Given the description of an element on the screen output the (x, y) to click on. 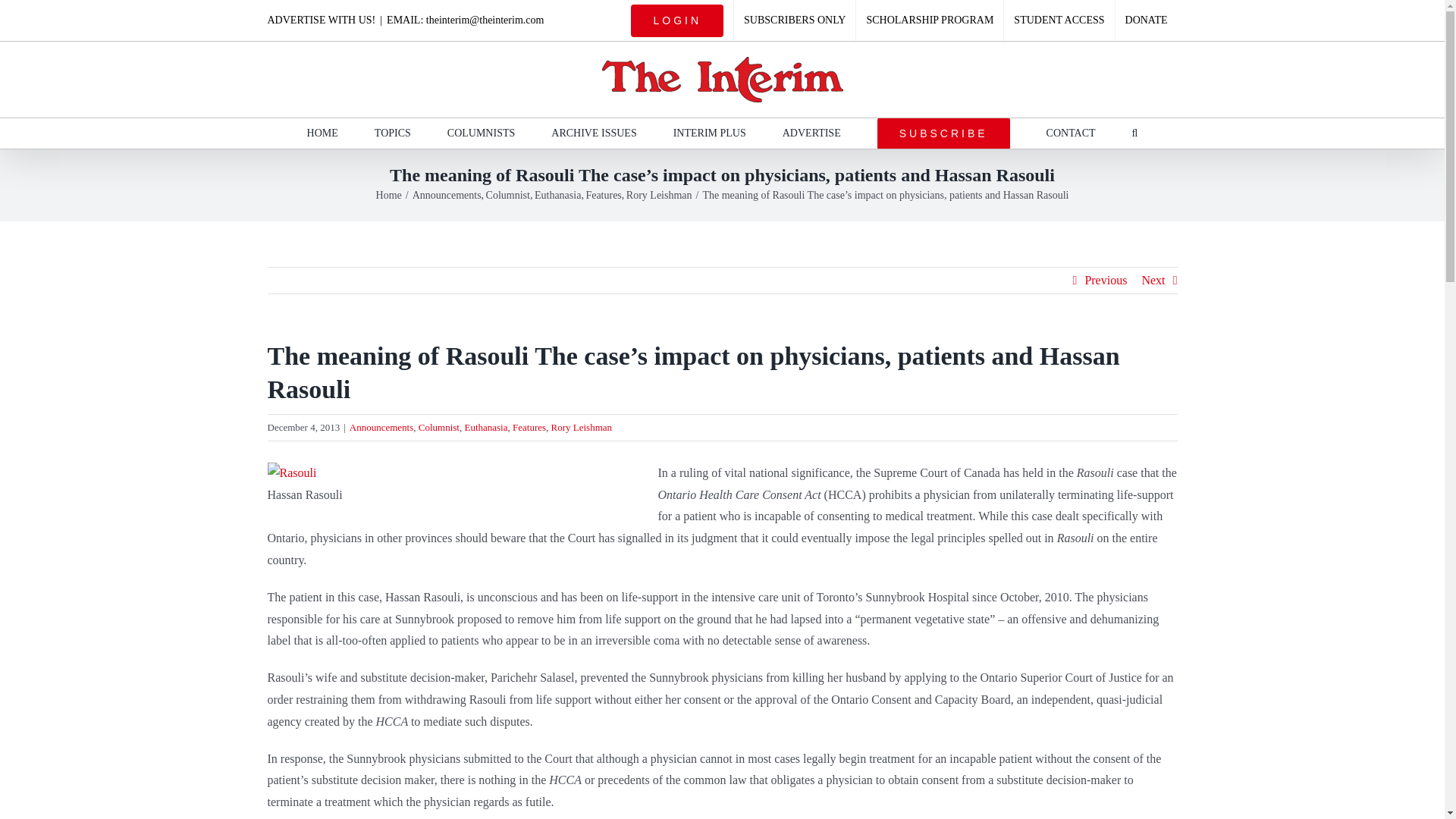
Rory Leishman (659, 194)
Columnist (507, 194)
STUDENT ACCESS (1058, 20)
SCHOLARSHIP PROGRAM (929, 20)
Features (603, 194)
ARCHIVE ISSUES (593, 132)
LOGIN (677, 20)
ADVERTISE (812, 132)
TOPICS (392, 132)
Announcements (446, 194)
